Given the description of an element on the screen output the (x, y) to click on. 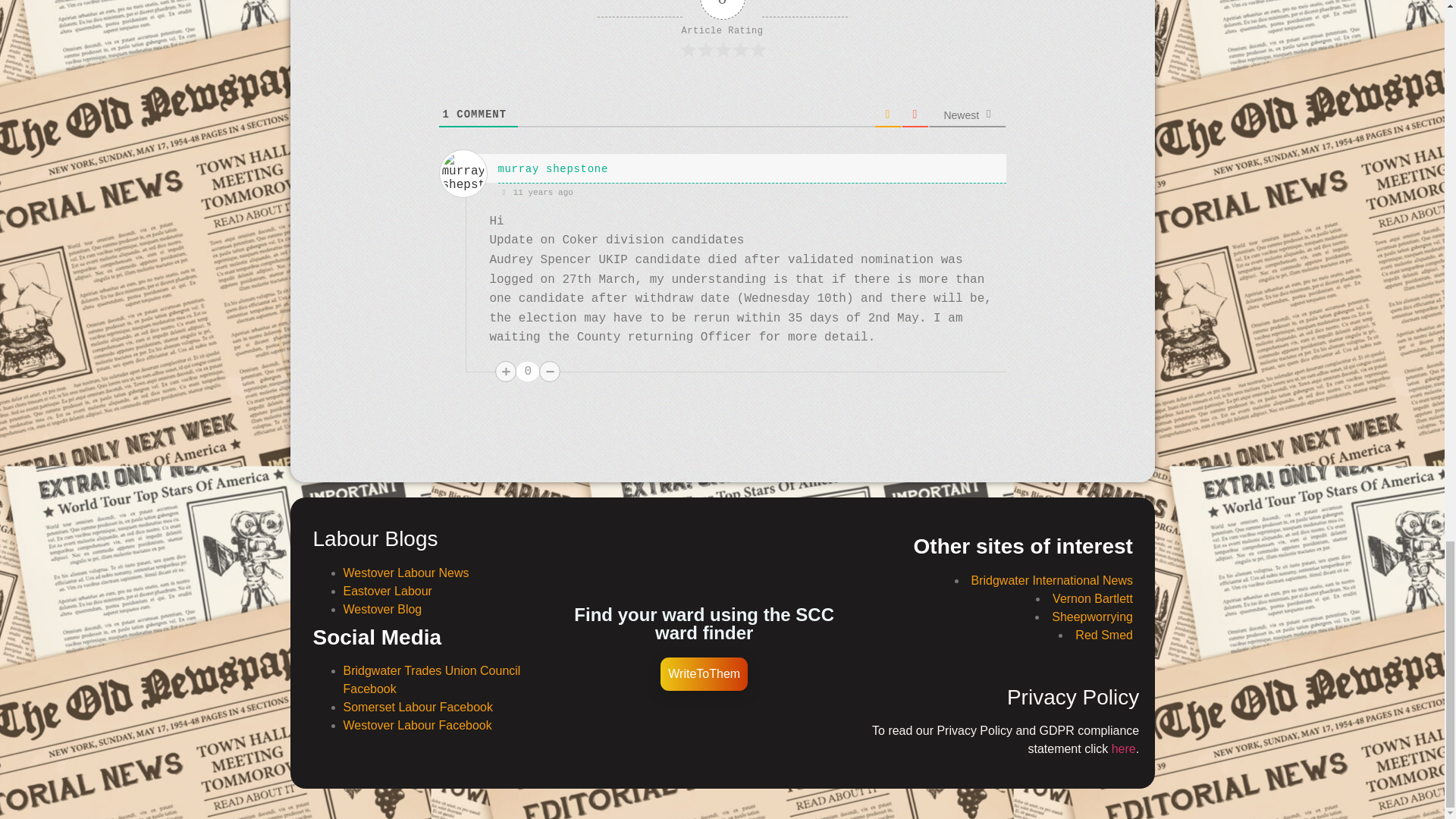
Bridgwater International News (1051, 580)
Bridgwater Trades Union Council Facebook (430, 679)
WriteToThem (704, 674)
Sheepworrying (1091, 616)
Vernon Bartlett (1092, 598)
Red Smed (1103, 634)
Westover Labour News (405, 572)
0 (527, 371)
Eastover Labour (386, 590)
Westover Blog (382, 608)
Westover Labour Facebook (417, 725)
Somerset Labour Facebook (417, 707)
here (1123, 748)
